Given the description of an element on the screen output the (x, y) to click on. 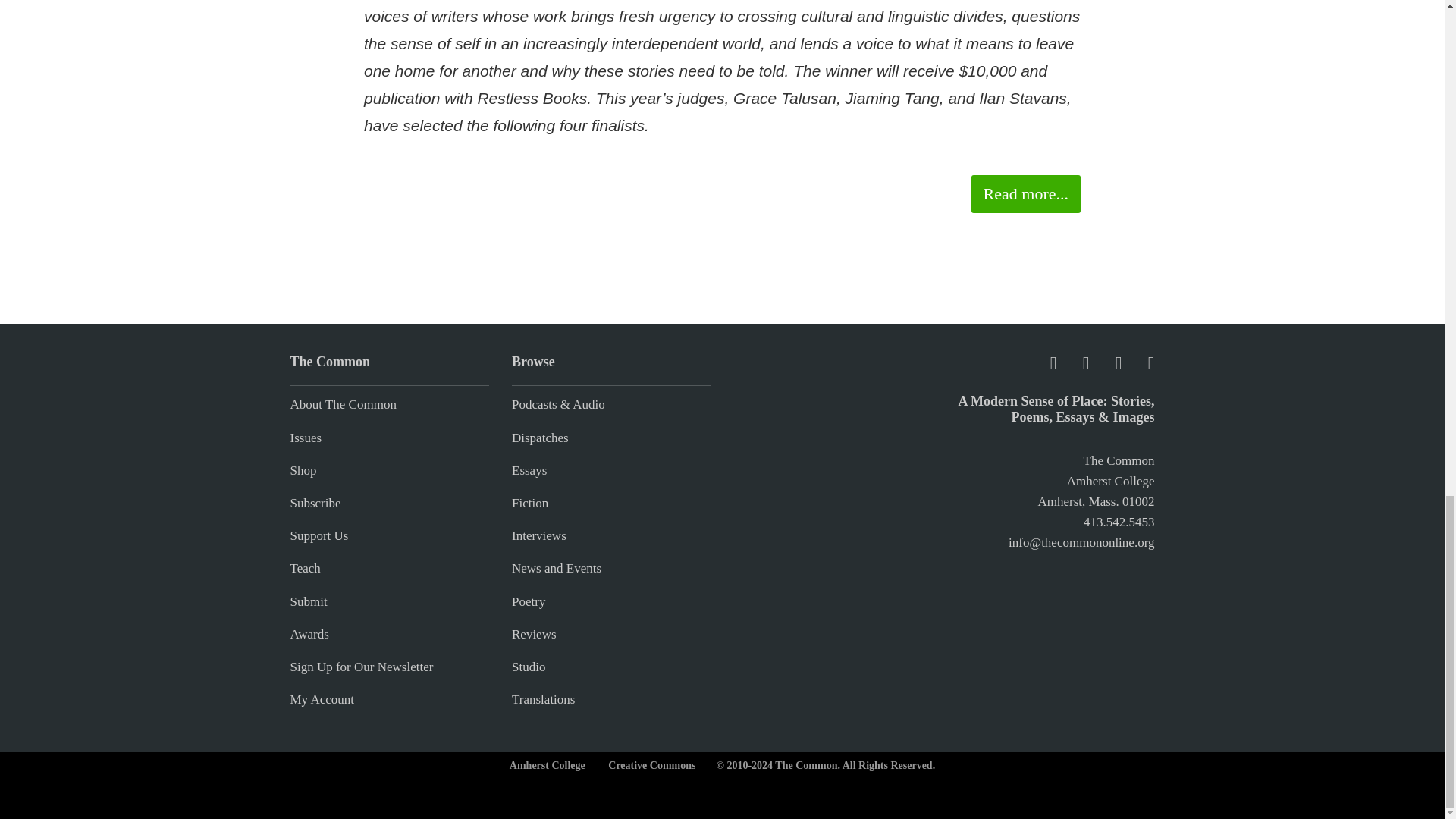
Poetry (528, 601)
Support Us (318, 535)
Submit (307, 601)
Reviews (534, 634)
Fiction (530, 503)
Issues (305, 437)
Dispatches (540, 437)
Interviews (539, 535)
Sign Up for Our Newsletter (360, 667)
About The Common (342, 404)
